Given the description of an element on the screen output the (x, y) to click on. 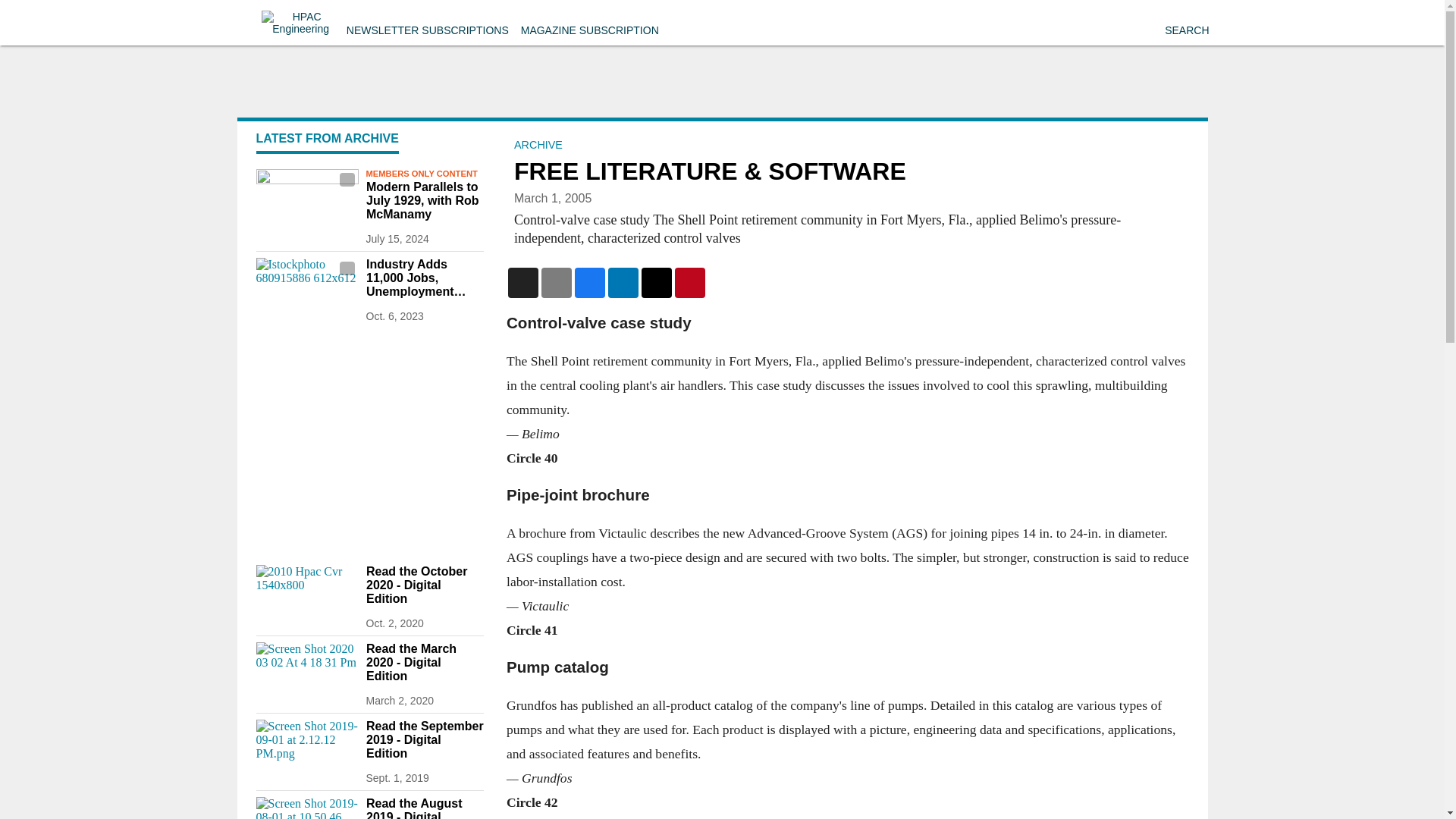
Read the September 2019 - Digital Edition (424, 739)
NEWSLETTER SUBSCRIPTIONS (427, 30)
Read the October 2020 - Digital Edition (424, 585)
MAGAZINE SUBSCRIPTION (590, 30)
Screen Shot 2019-08-01 at 10.50.46 AM.png (307, 807)
Read the August 2019 - Digital Edition (424, 807)
Istockphoto 680915886 612x612 (307, 285)
Read the March 2020 - Digital Edition (424, 662)
Modern Parallels to July 1929, with Rob McManamy (424, 200)
ARCHIVE (537, 144)
SEARCH (1186, 30)
2010 Hpac Cvr 1540x800 (307, 593)
Screen Shot 2019-09-01 at 2.12.12 PM.png (307, 747)
Screen Shot 2020 03 02 At 4 18 31 Pm (307, 670)
Industry Adds 11,000 Jobs, Unemployment Remains Low (424, 277)
